Given the description of an element on the screen output the (x, y) to click on. 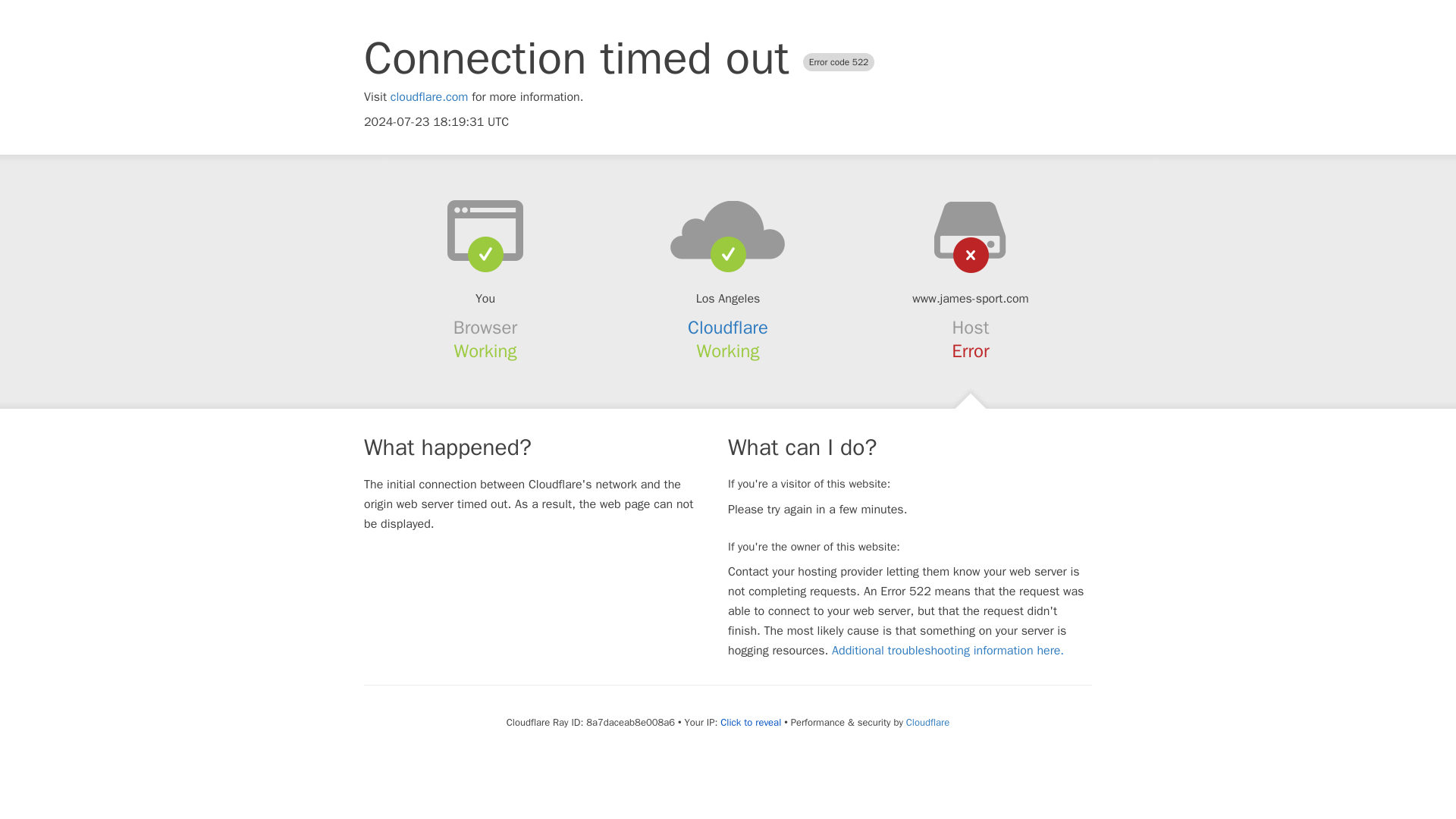
Cloudflare (927, 721)
Additional troubleshooting information here. (947, 650)
cloudflare.com (429, 96)
Click to reveal (750, 722)
Cloudflare (727, 327)
